Given the description of an element on the screen output the (x, y) to click on. 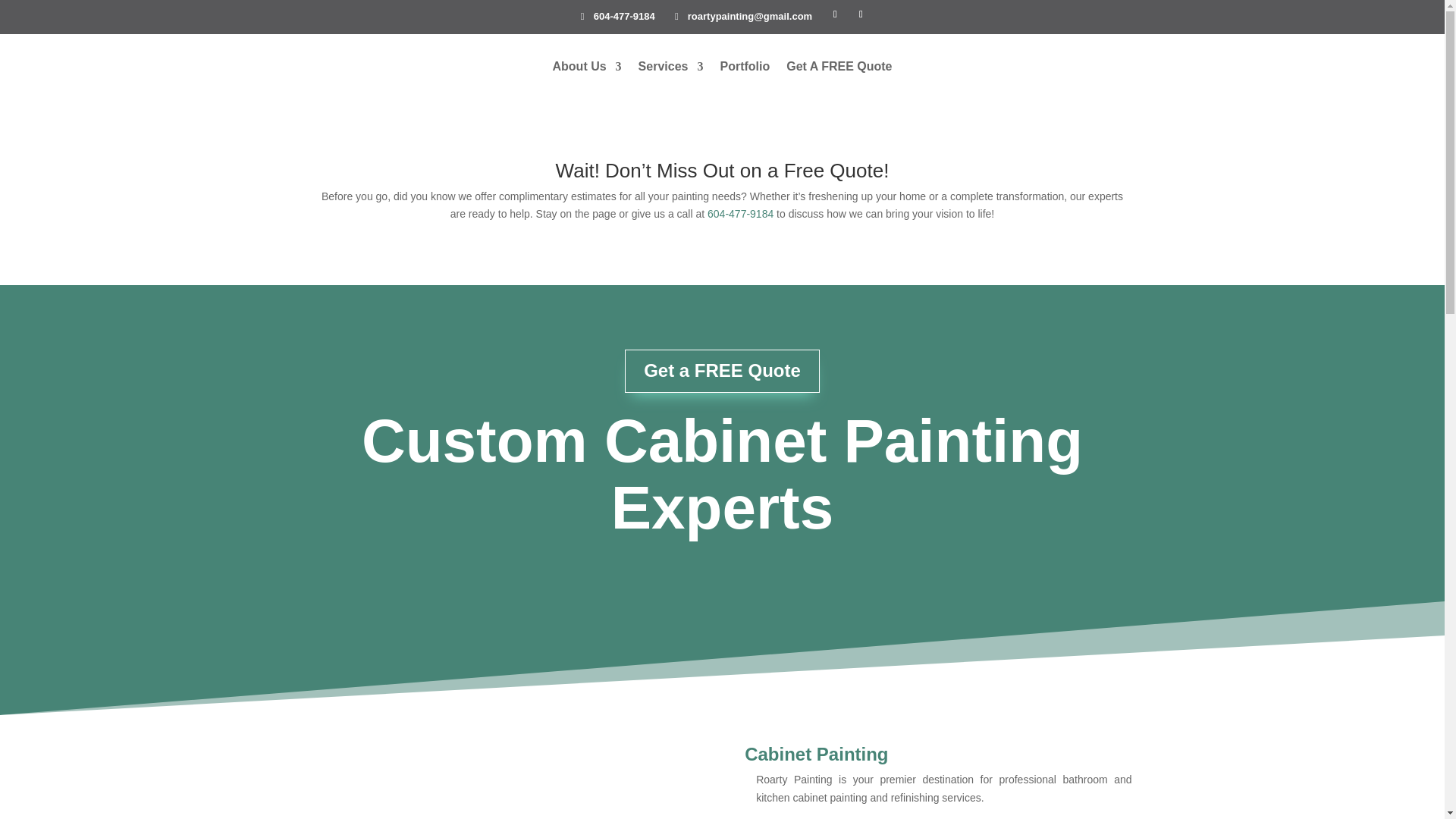
Services (671, 66)
Follow on Instagram (860, 14)
About Us (586, 66)
604-477-9184 (740, 214)
Get A FREE Quote (838, 66)
604-477-9184 (617, 15)
Follow on Facebook (834, 14)
Get a FREE Quote (721, 371)
